Given the description of an element on the screen output the (x, y) to click on. 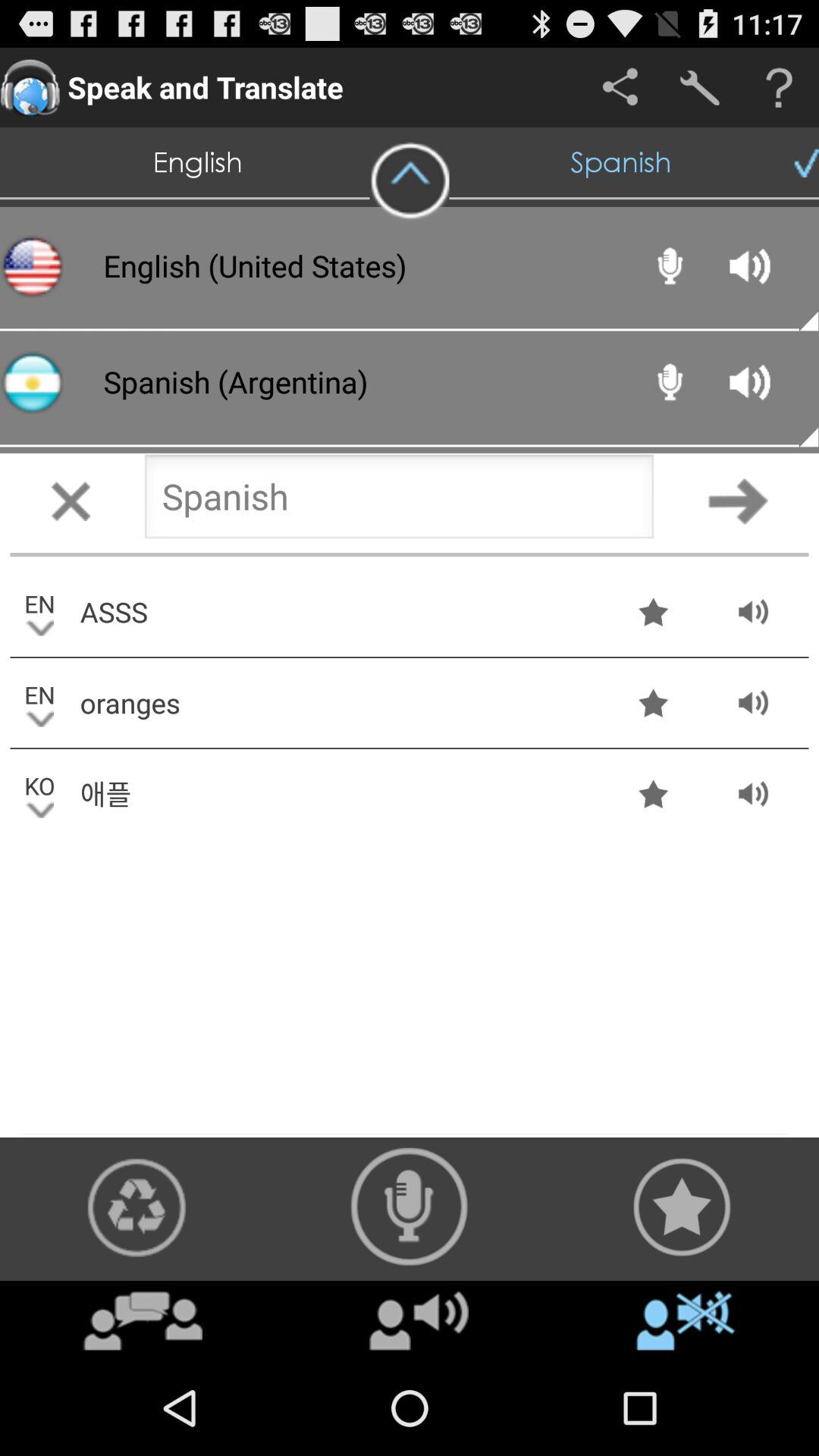
open icon (142, 1320)
